Given the description of an element on the screen output the (x, y) to click on. 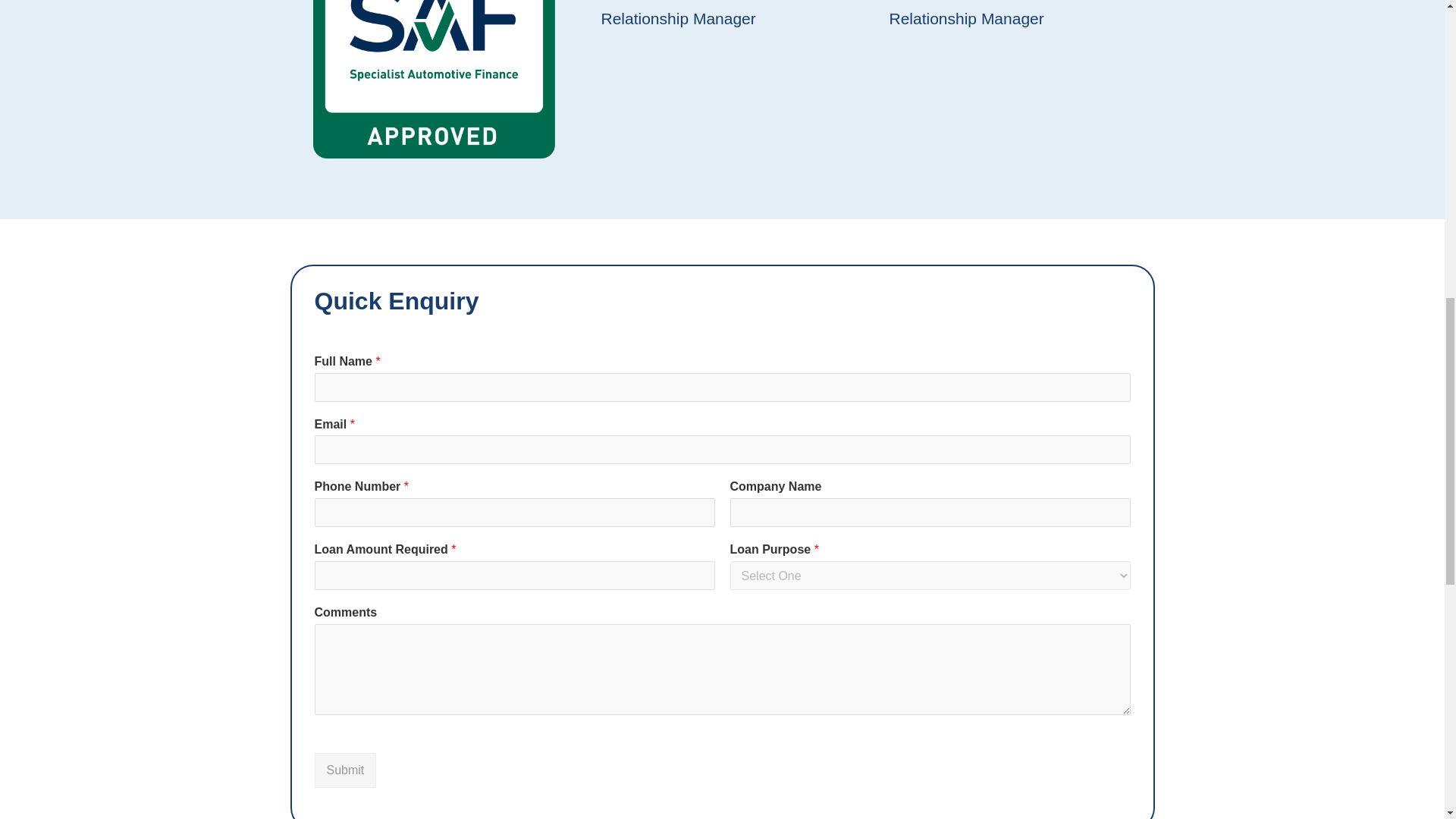
Submit (344, 769)
